Given the description of an element on the screen output the (x, y) to click on. 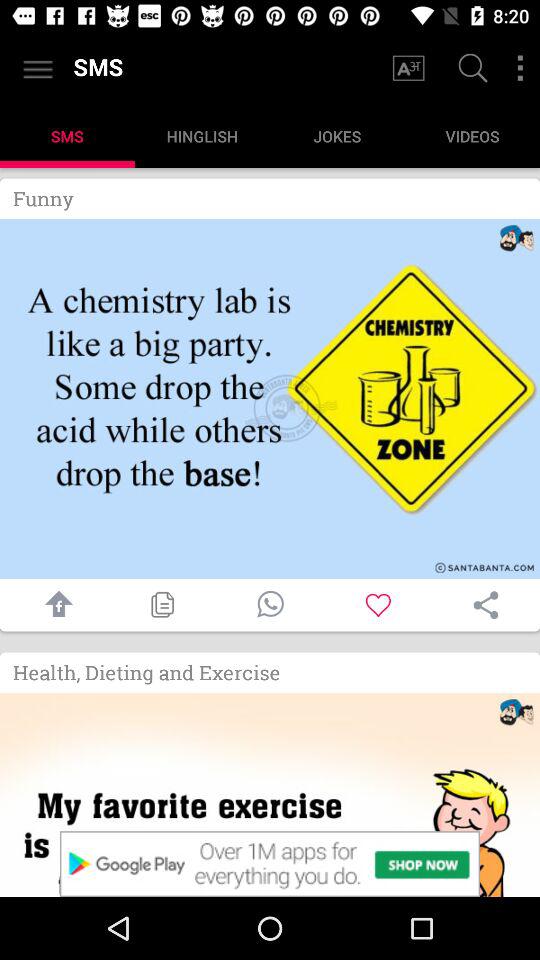
share option (486, 605)
